Given the description of an element on the screen output the (x, y) to click on. 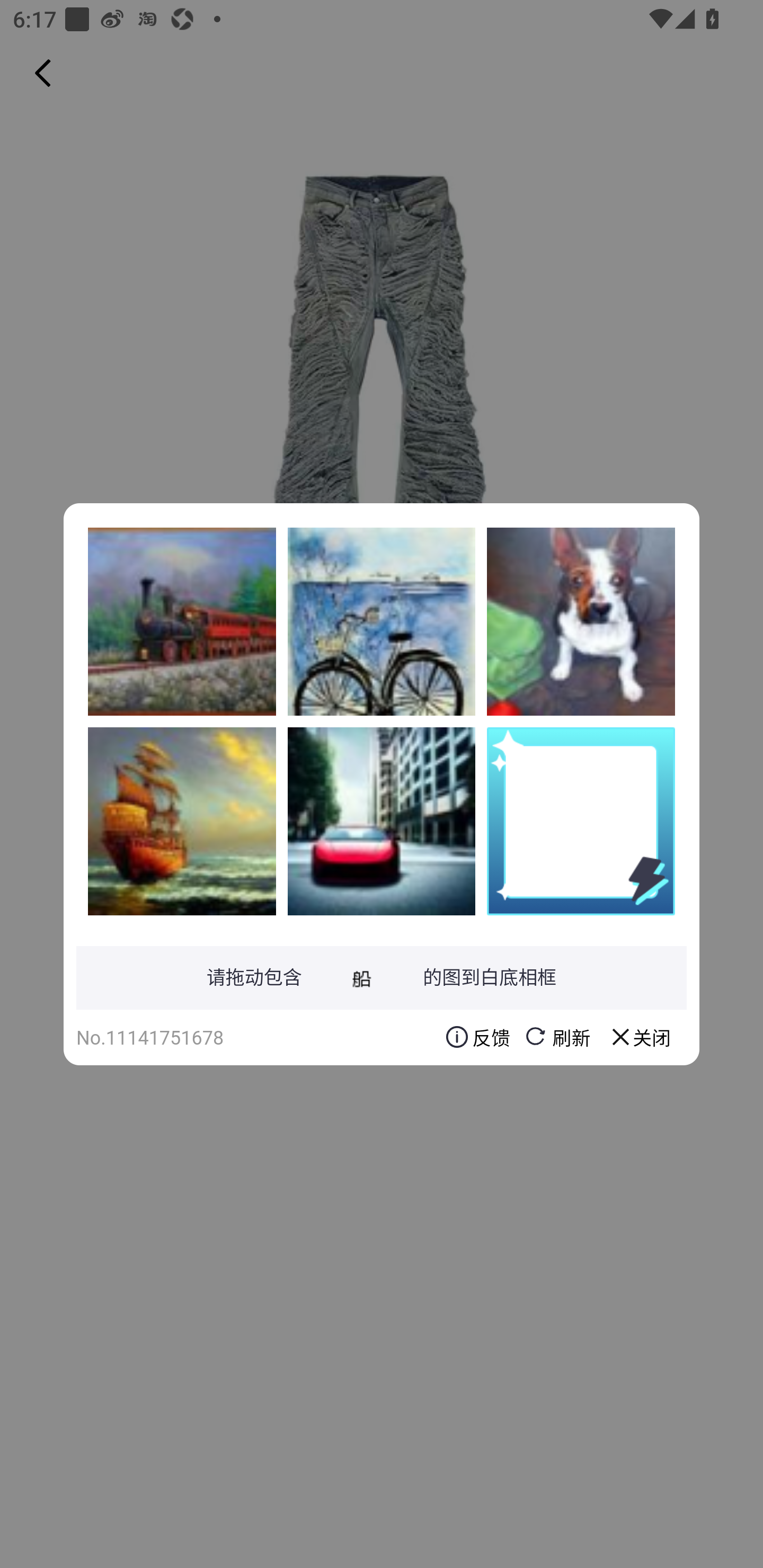
P (580, 621)
9+VUY+EPqNz4KC2 (381, 820)
